Given the description of an element on the screen output the (x, y) to click on. 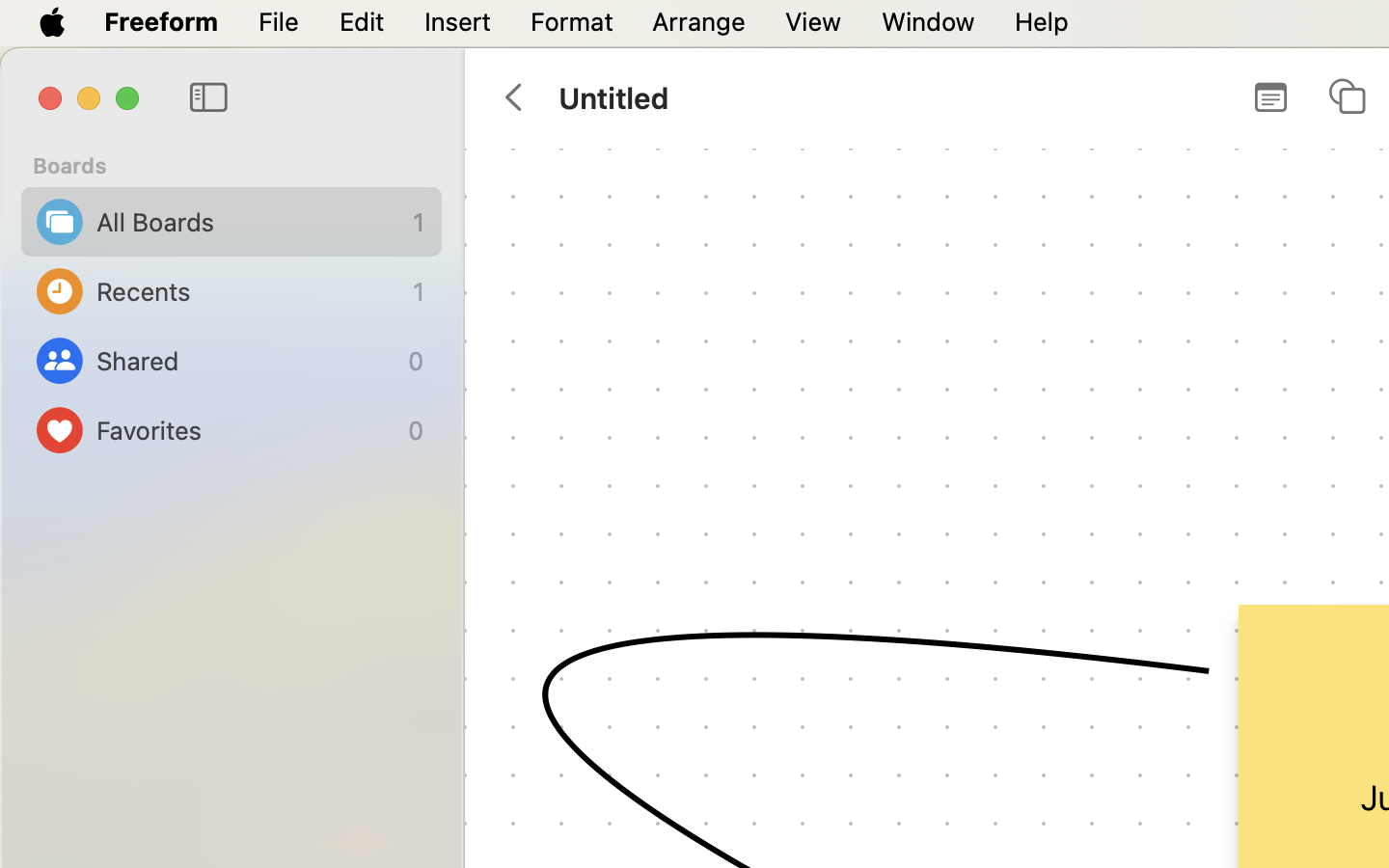
Recents Element type: AXStaticText (249, 290)
Untitled Element type: AXStaticText (612, 97)
